Given the description of an element on the screen output the (x, y) to click on. 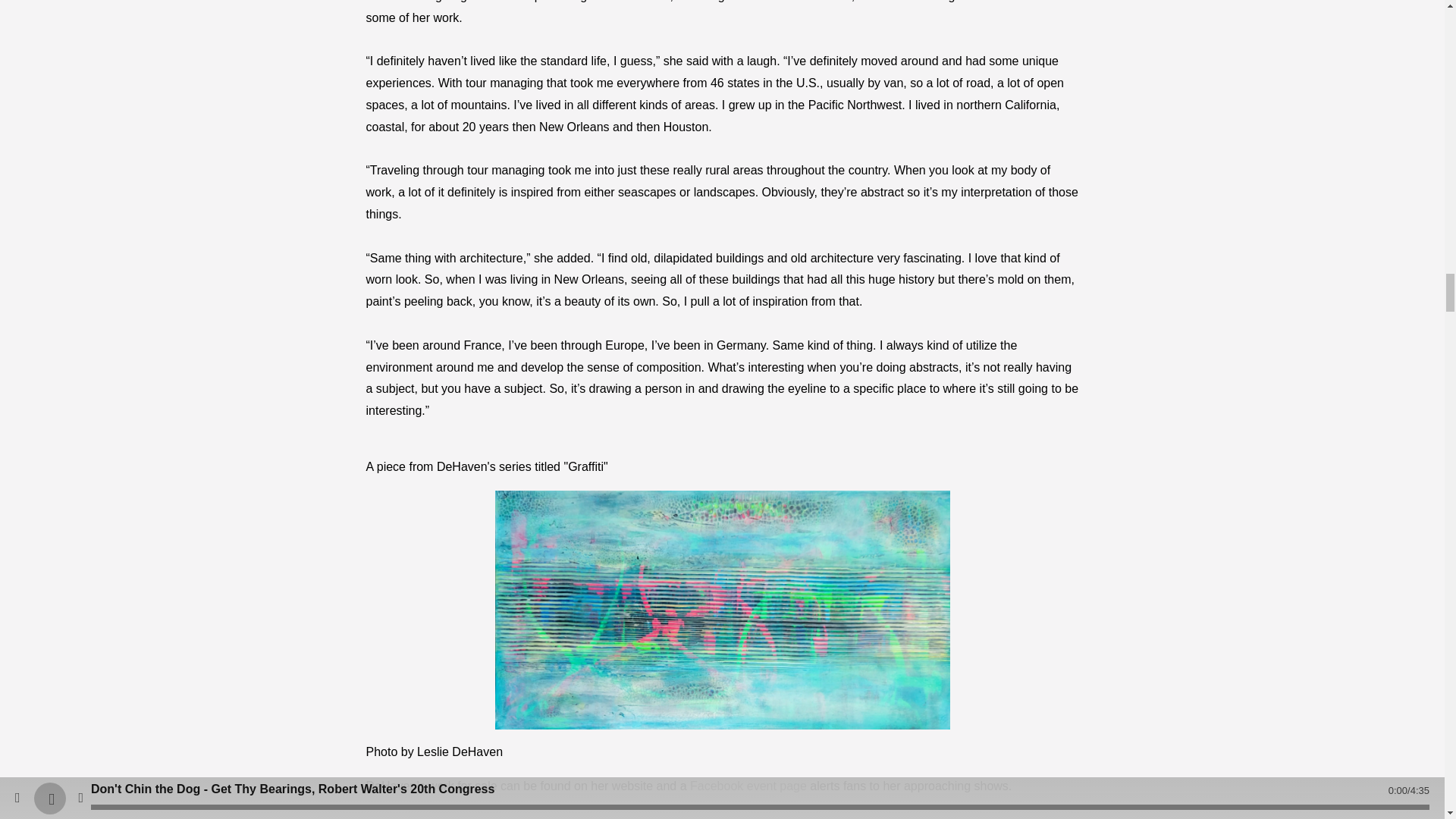
Facebook event page (748, 785)
